Given the description of an element on the screen output the (x, y) to click on. 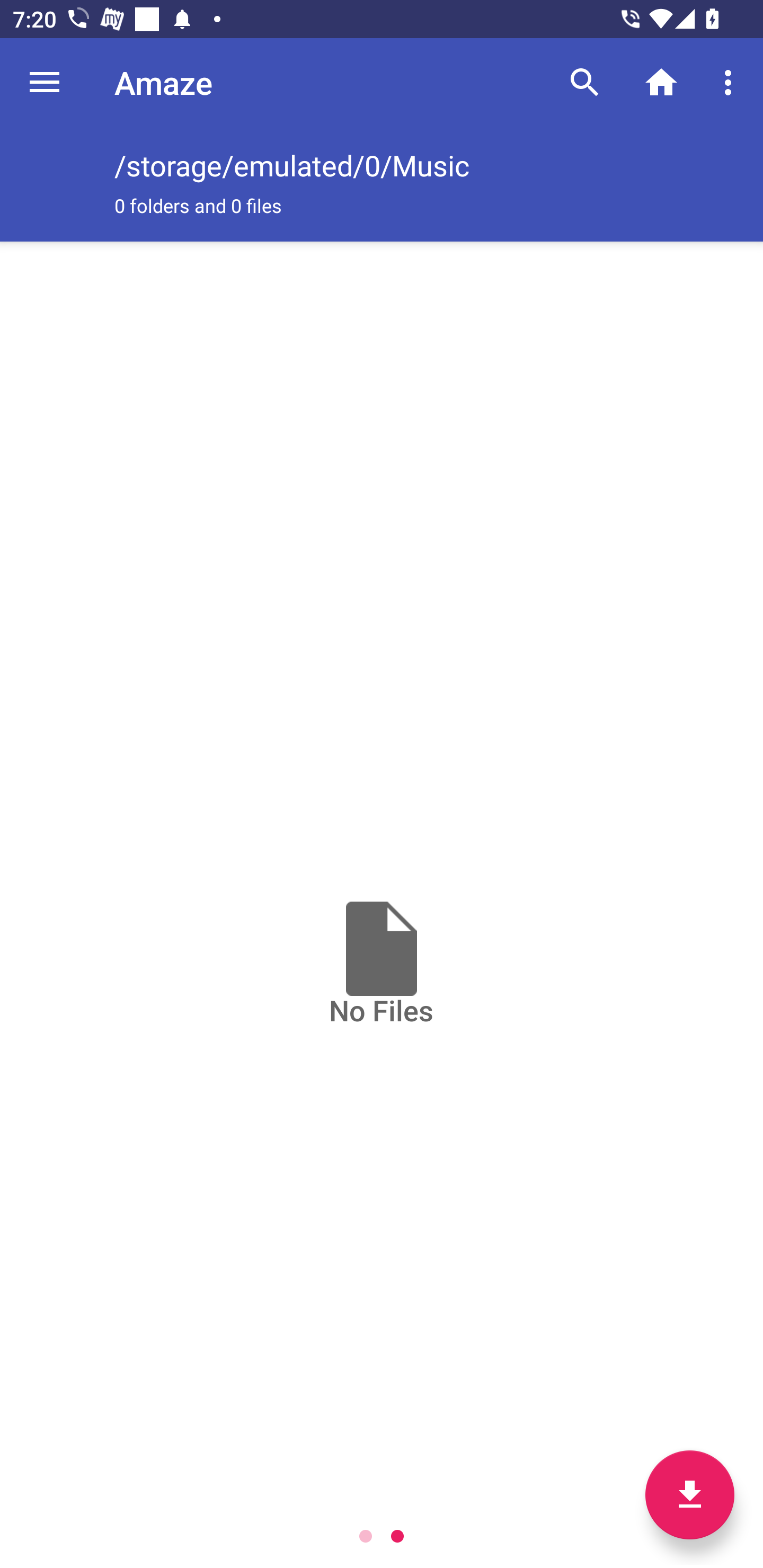
Navigate up (44, 82)
Search (585, 81)
Home (661, 81)
More options (731, 81)
